Given the description of an element on the screen output the (x, y) to click on. 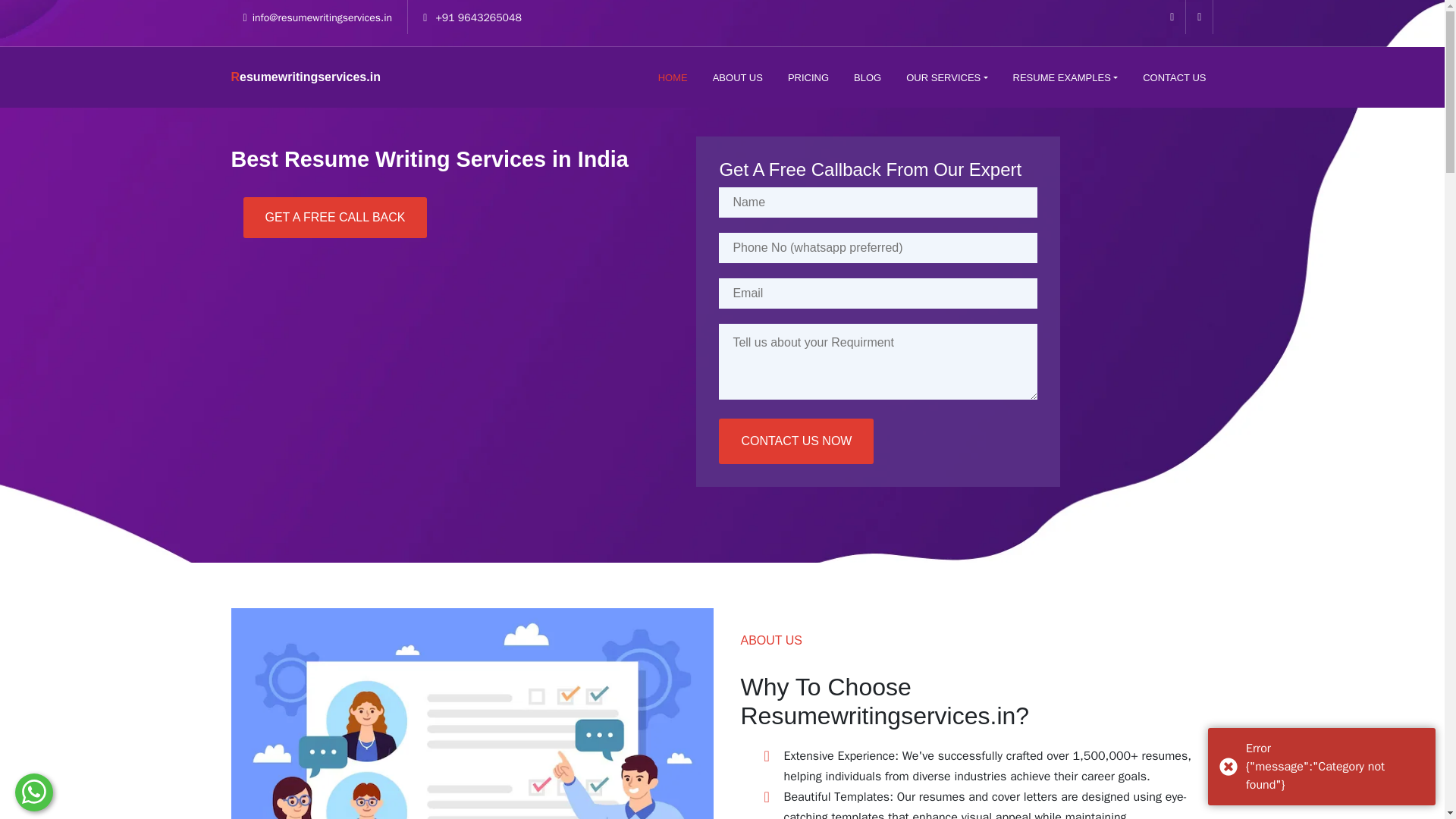
CONTACT US NOW (796, 542)
Resumewritingservices.in (305, 76)
RESUME EXAMPLES (1065, 77)
CONTACT US (1173, 77)
ABOUT US (737, 77)
HOME (672, 77)
PRICING (807, 77)
OUR SERVICES (946, 77)
BLOG (866, 77)
